Given the description of an element on the screen output the (x, y) to click on. 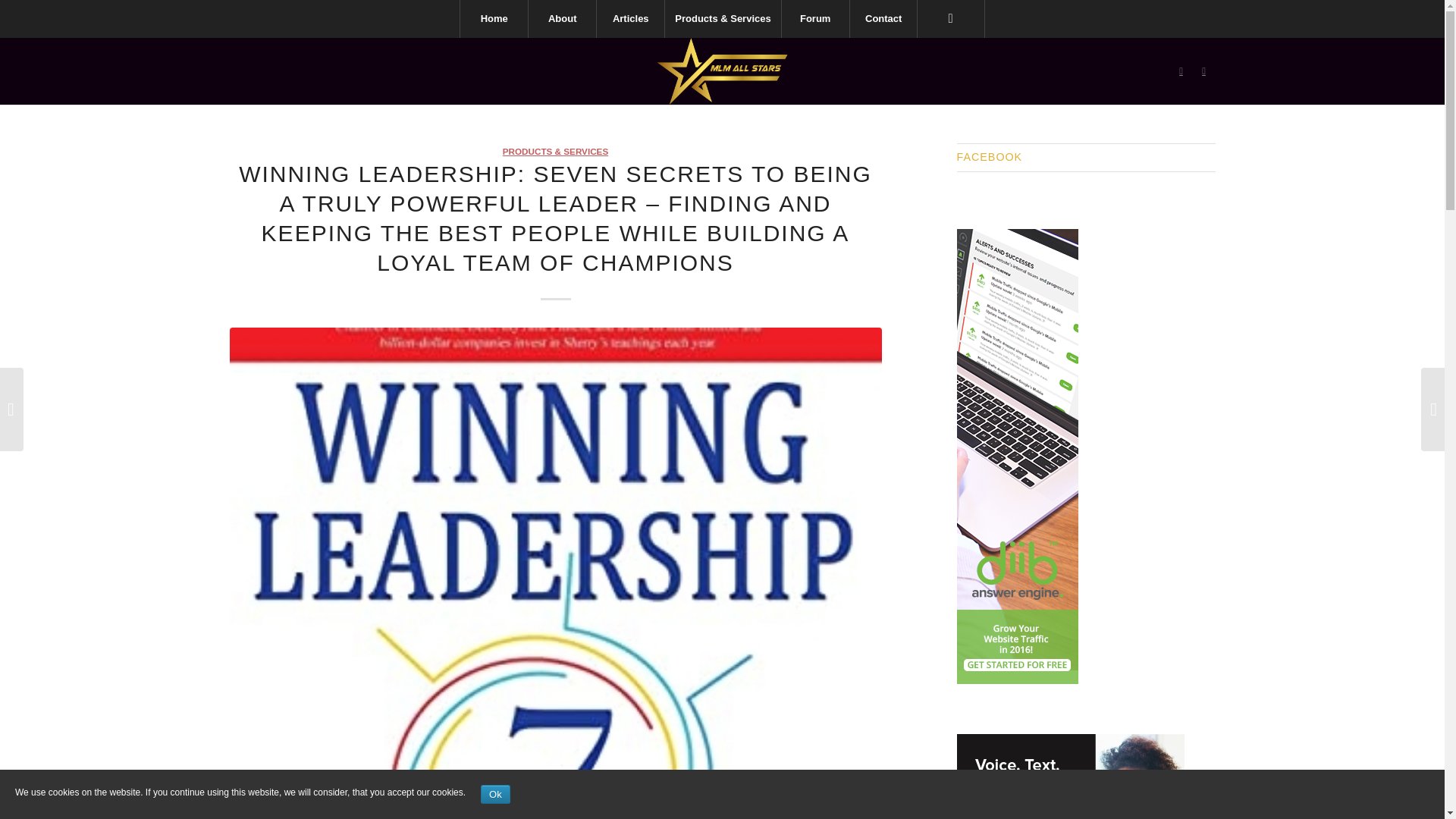
Articles (629, 18)
About (561, 18)
Contact (882, 18)
Twitter (1180, 70)
Dribbble (1203, 70)
Forum (814, 18)
Home (493, 18)
